Given the description of an element on the screen output the (x, y) to click on. 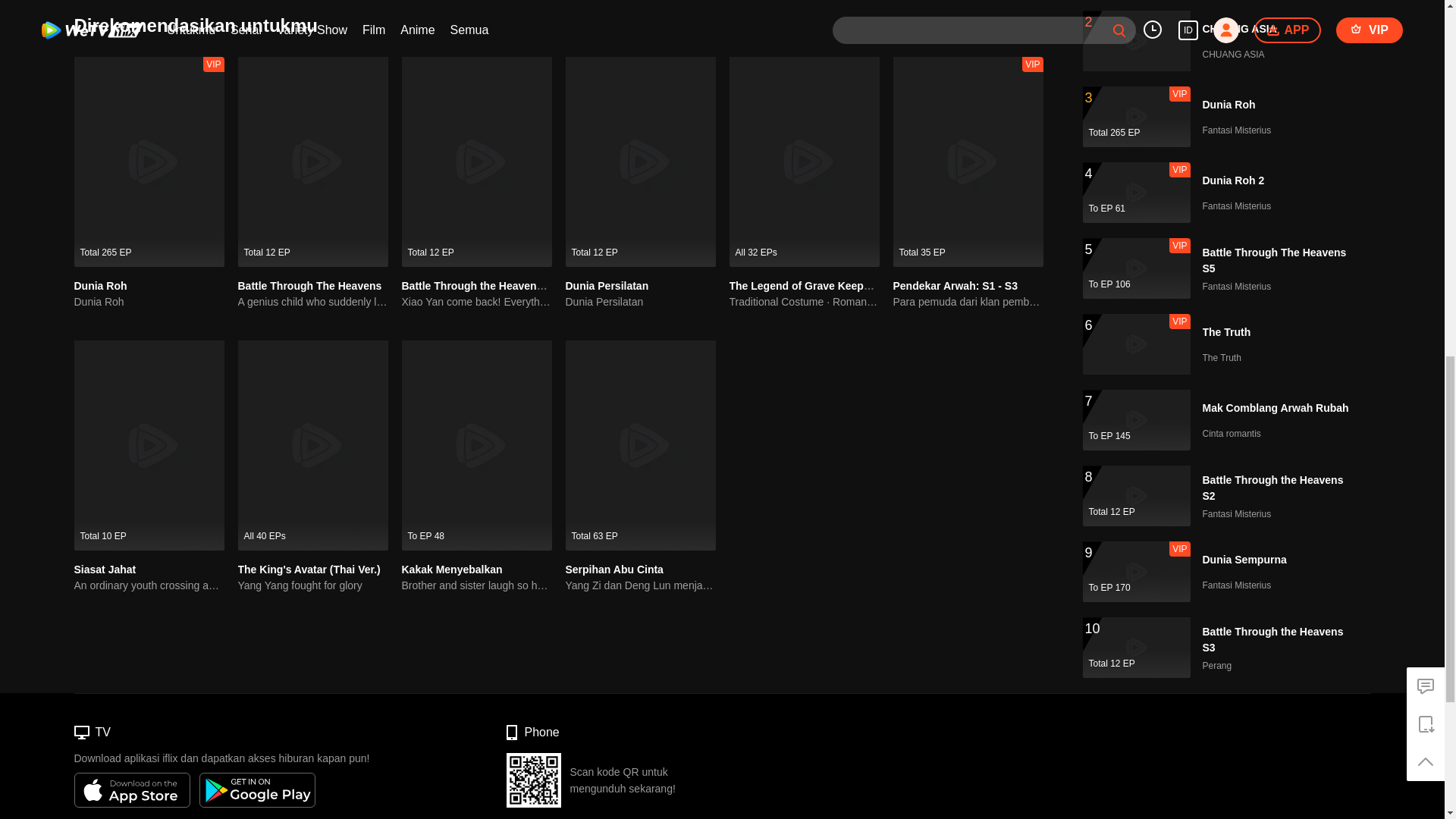
Dunia Persilatan (607, 285)
Dunia Persilatan (607, 285)
Battle Through The Heavens (309, 285)
The Legend of Grave Keepers (804, 285)
Pendekar Arwah: S1 - S3 (955, 285)
Siasat Jahat (105, 569)
Dunia Roh (101, 285)
Dunia Persilatan (641, 302)
A genius child who suddenly loses all his powers (313, 302)
